Given the description of an element on the screen output the (x, y) to click on. 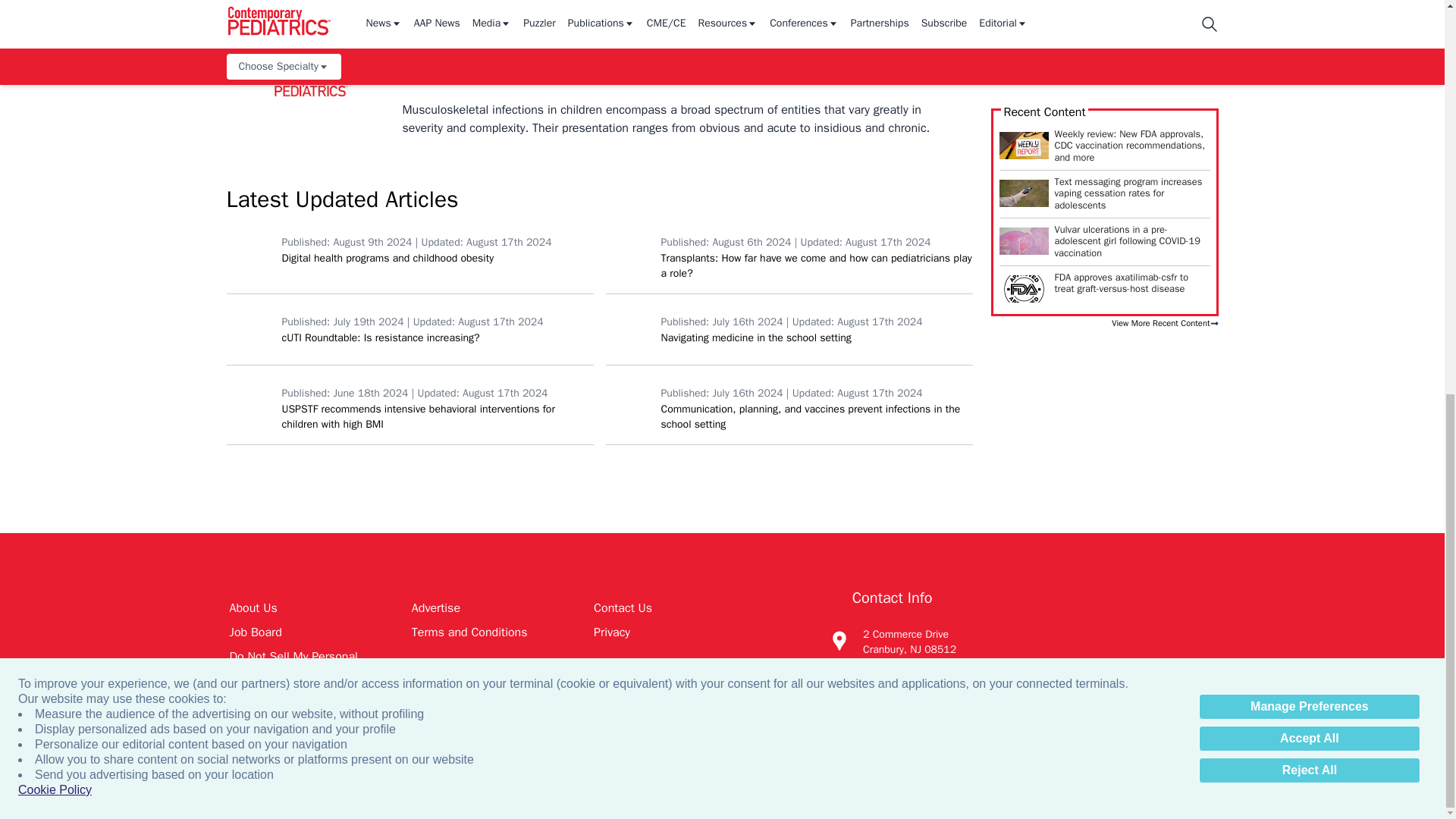
cUTI Roundtable: Is resistance increasing? (250, 329)
Cookie Policy (54, 32)
Reject All (1309, 12)
Image Credit: Author provided (1023, 95)
Weekly Review (1023, 7)
